Given the description of an element on the screen output the (x, y) to click on. 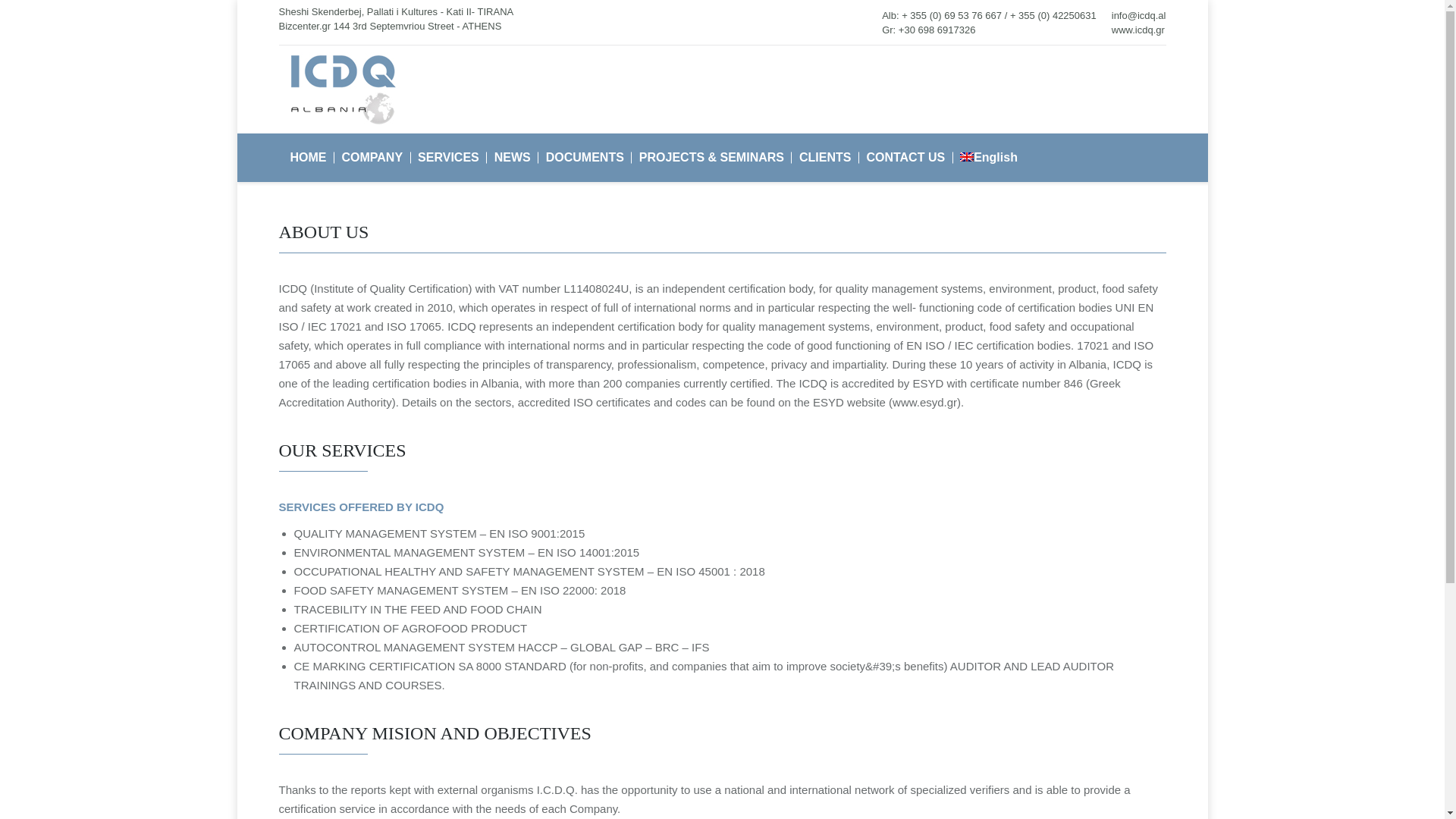
CLIENTS (824, 157)
COMPANY (372, 157)
SERVICES (448, 157)
DOCUMENTS (584, 157)
Go! (19, 15)
English (989, 157)
English (966, 156)
HOME (308, 157)
NEWS (512, 157)
English (989, 157)
